Given the description of an element on the screen output the (x, y) to click on. 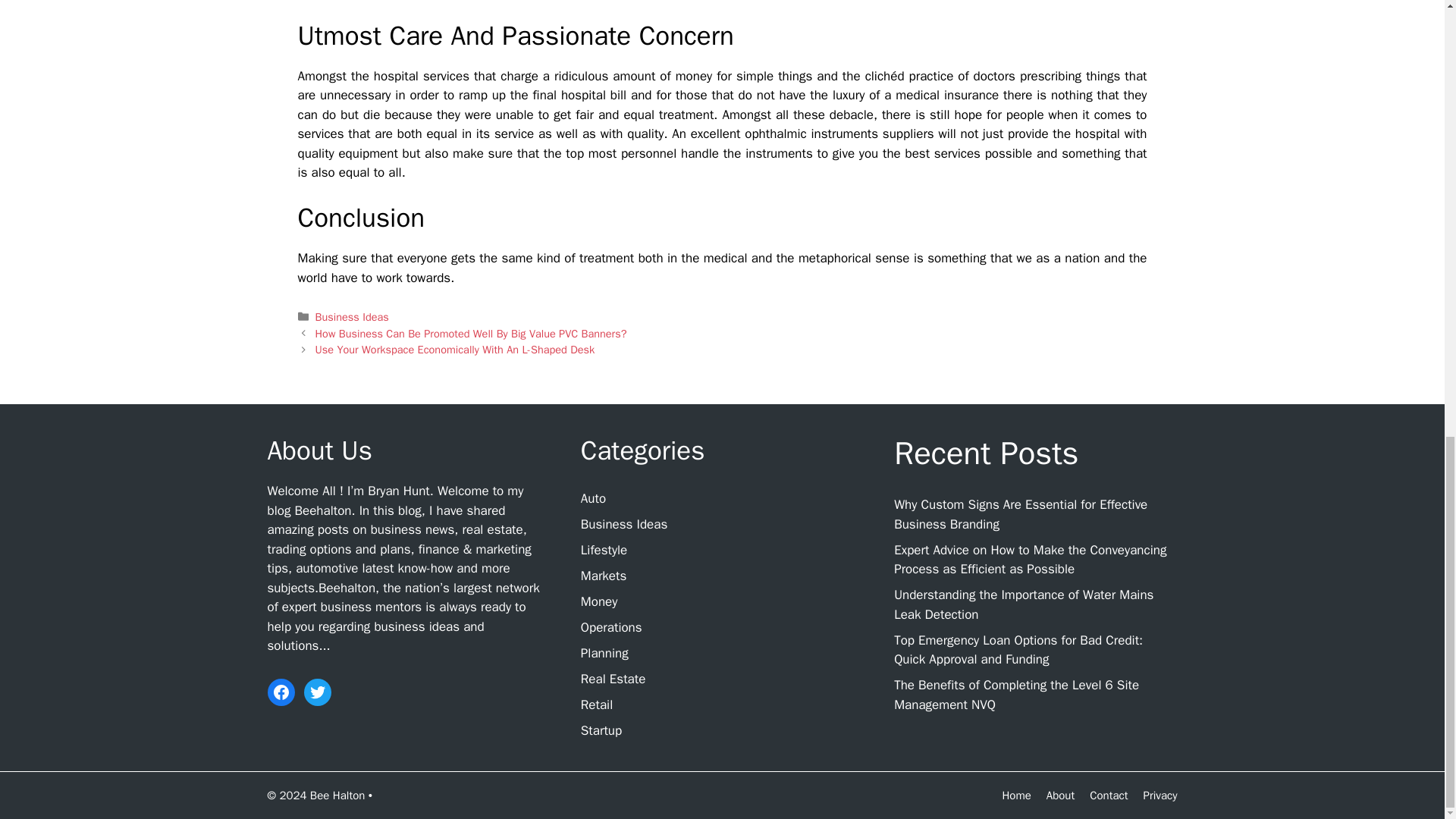
Markets (603, 575)
The Benefits of Completing the Level 6 Site Management NVQ (1015, 694)
Retail (596, 704)
Business Ideas (623, 524)
How Business Can Be Promoted Well By Big Value PVC Banners? (471, 333)
Auto (592, 498)
Home (1015, 795)
Contact (1107, 795)
Privacy (1159, 795)
